Given the description of an element on the screen output the (x, y) to click on. 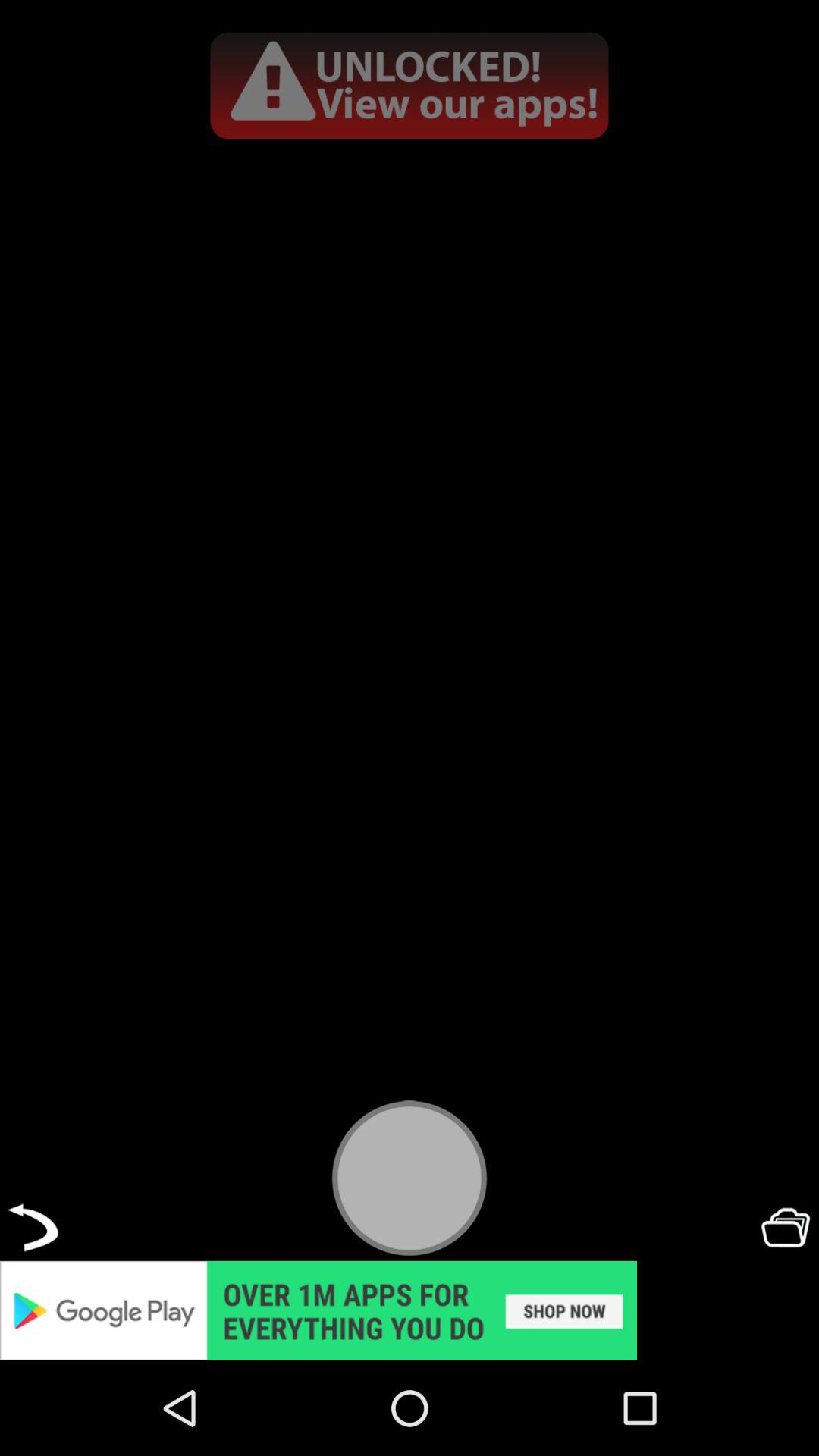
open folder button (785, 1227)
